Given the description of an element on the screen output the (x, y) to click on. 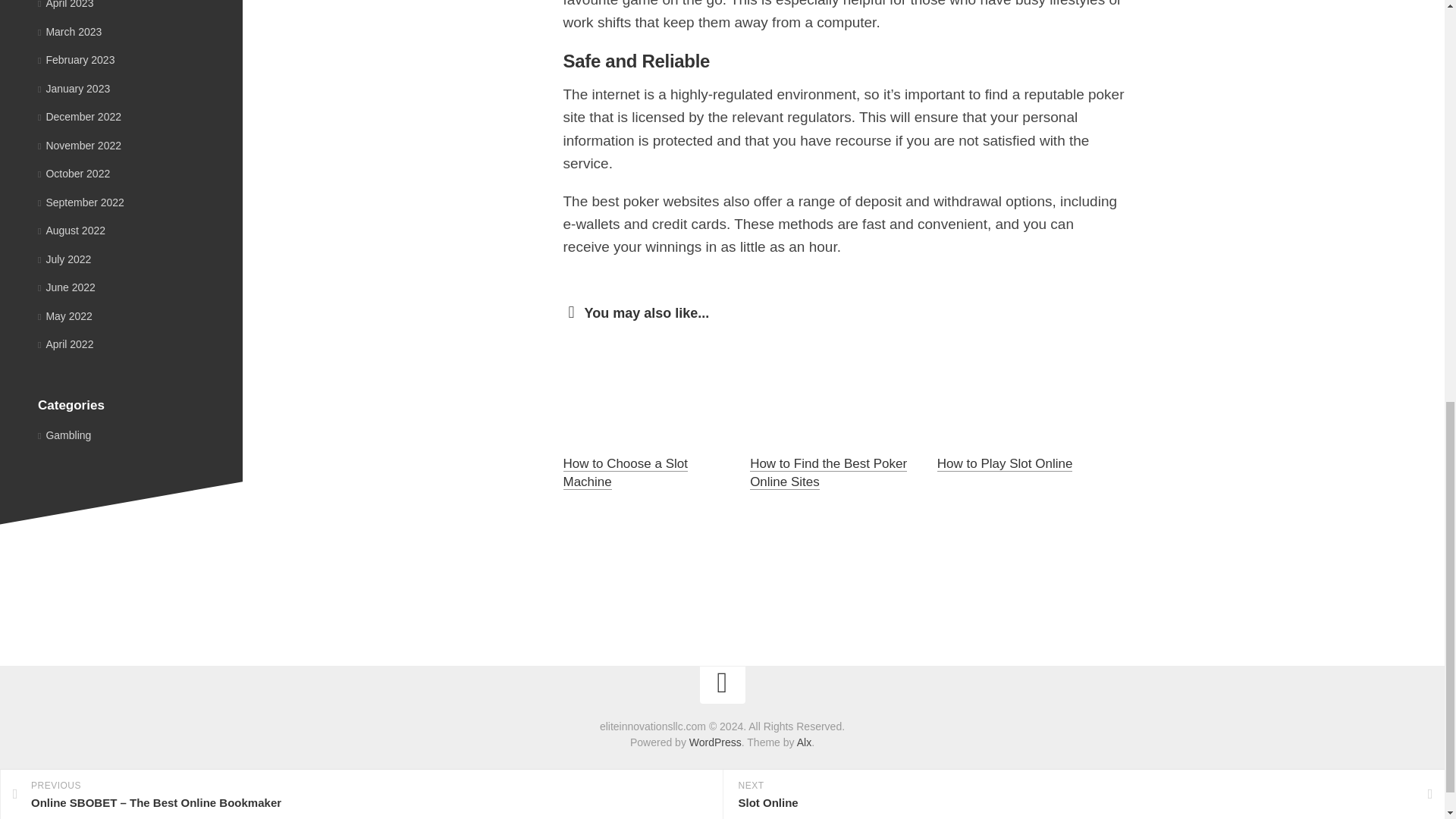
How to Choose a Slot Machine (624, 472)
October 2022 (73, 173)
January 2023 (73, 87)
November 2022 (78, 145)
August 2022 (70, 230)
How to Find the Best Poker Online Sites (828, 472)
How to Play Slot Online (1005, 463)
September 2022 (80, 201)
December 2022 (78, 116)
April 2023 (65, 4)
